Given the description of an element on the screen output the (x, y) to click on. 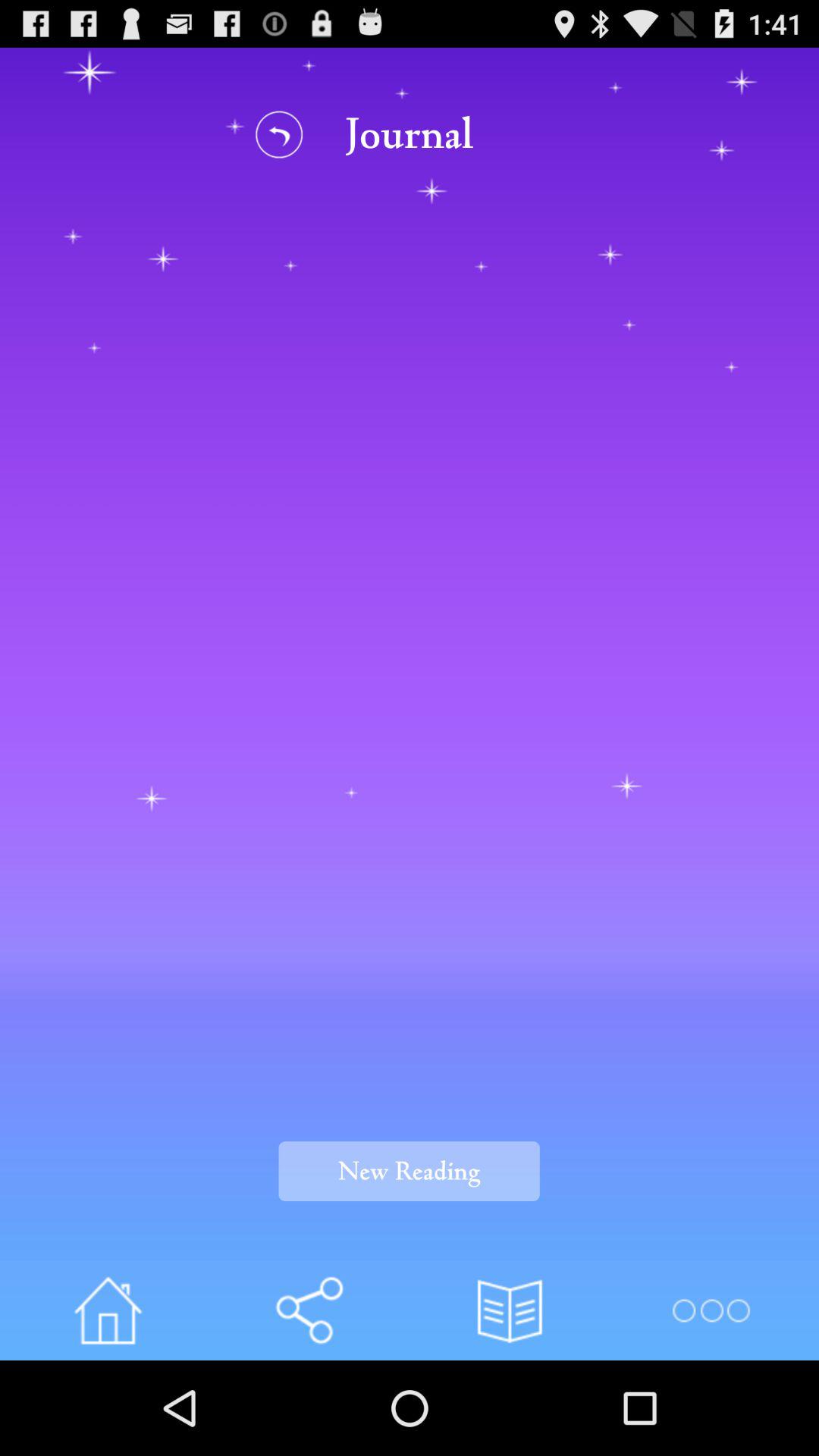
bookmark page (509, 1310)
